Given the description of an element on the screen output the (x, y) to click on. 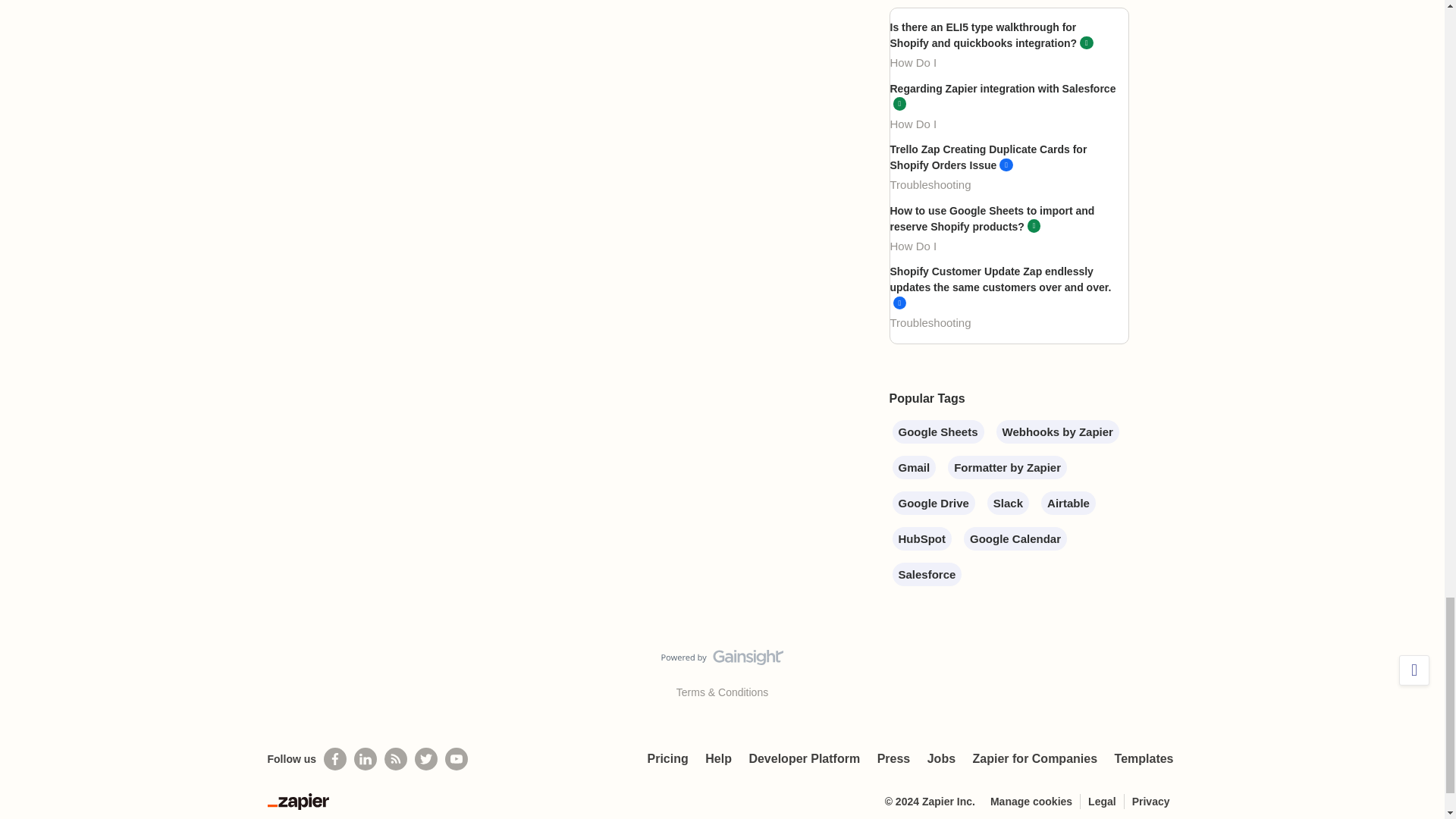
Follow us on LinkedIn (365, 758)
Follow us on Facebook (334, 758)
Subscribe to our blog (395, 758)
Visit Gainsight.com (722, 661)
Back to top (1414, 670)
